Given the description of an element on the screen output the (x, y) to click on. 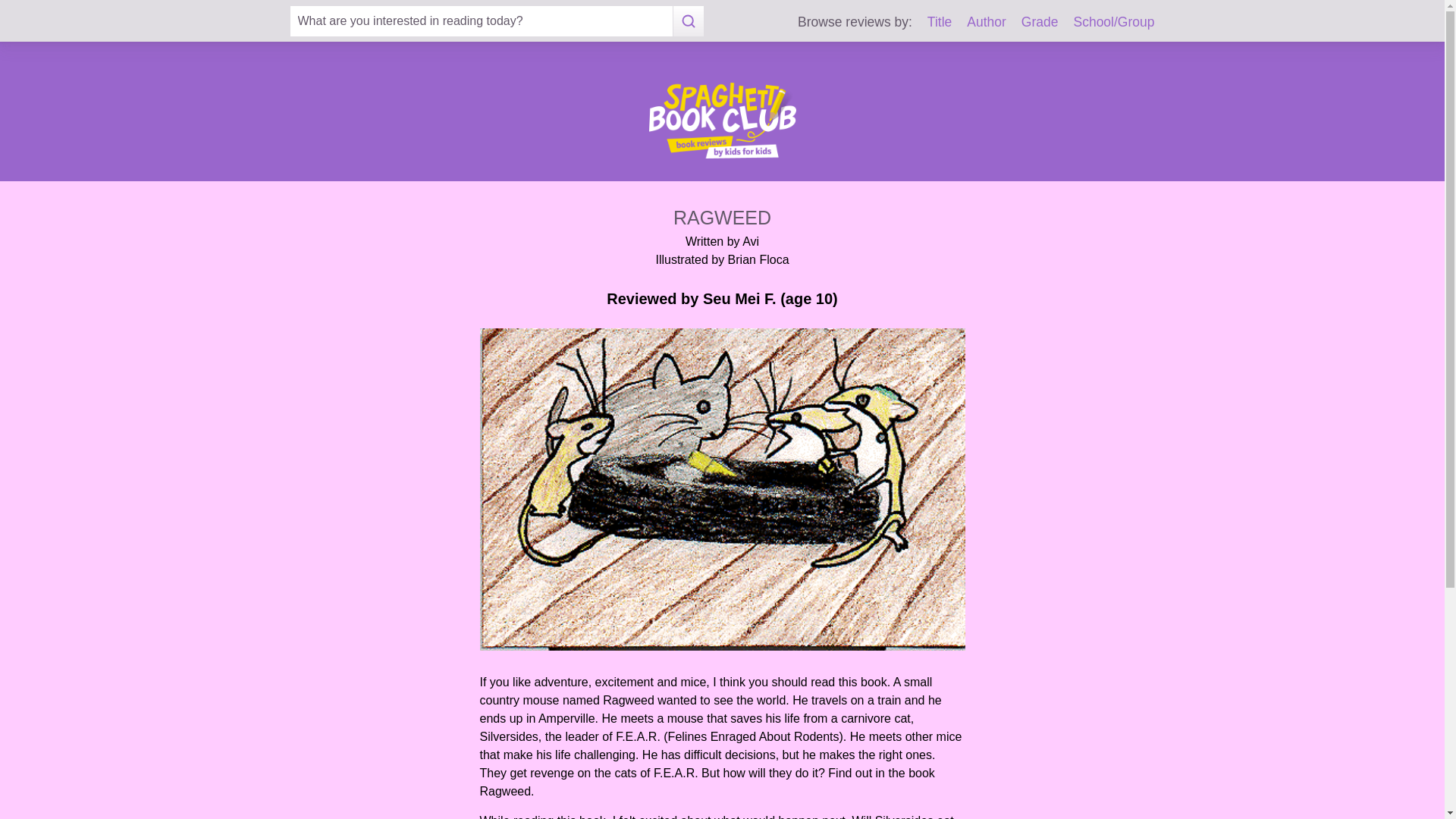
Grade (1040, 21)
Title (939, 21)
Author (986, 21)
